Given the description of an element on the screen output the (x, y) to click on. 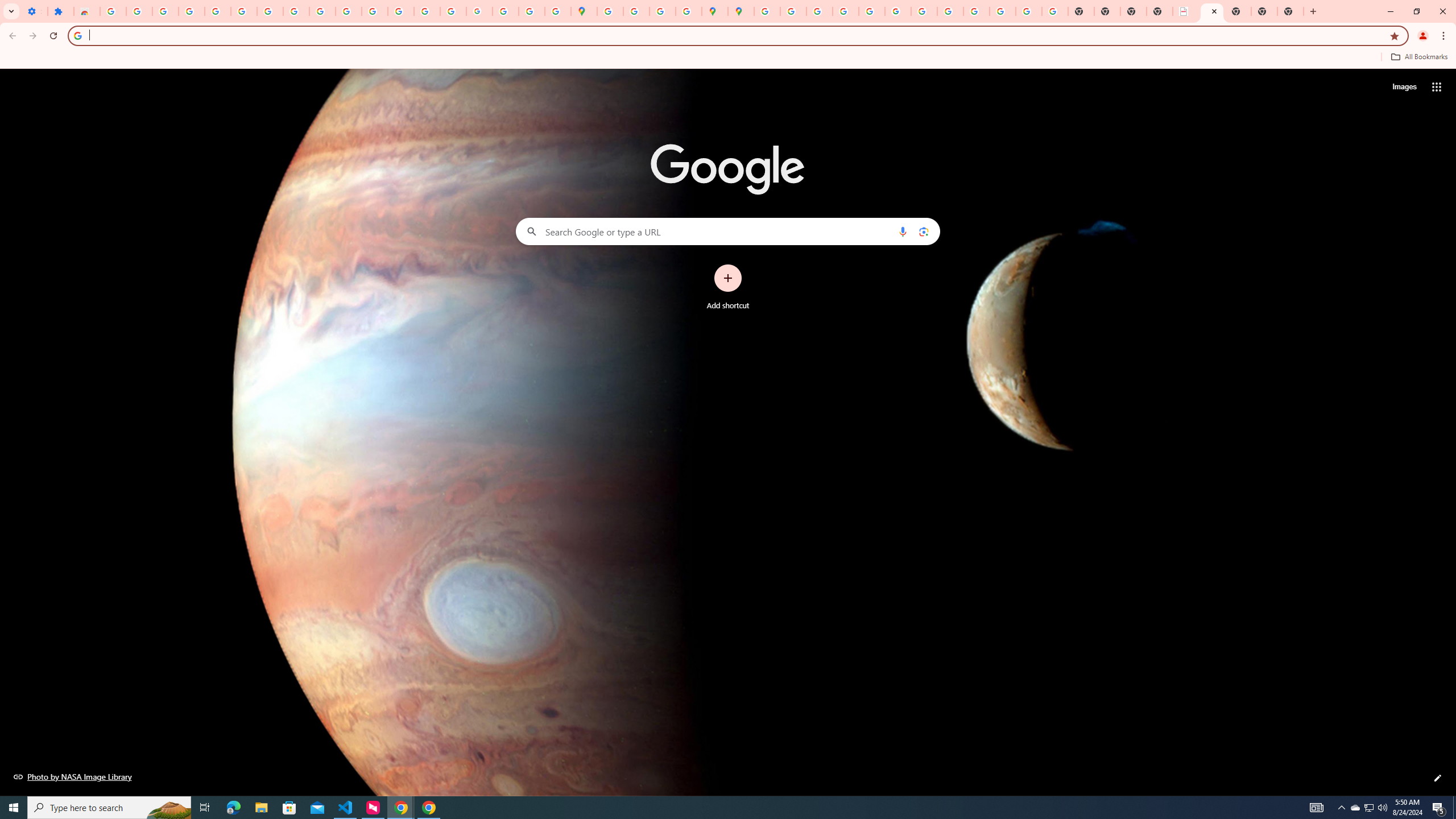
Sign in - Google Accounts (112, 11)
Google Maps (584, 11)
LAAD Defence & Security 2025 | BAE Systems (1185, 11)
New Tab (1264, 11)
Photo by NASA Image Library (72, 776)
